Given the description of an element on the screen output the (x, y) to click on. 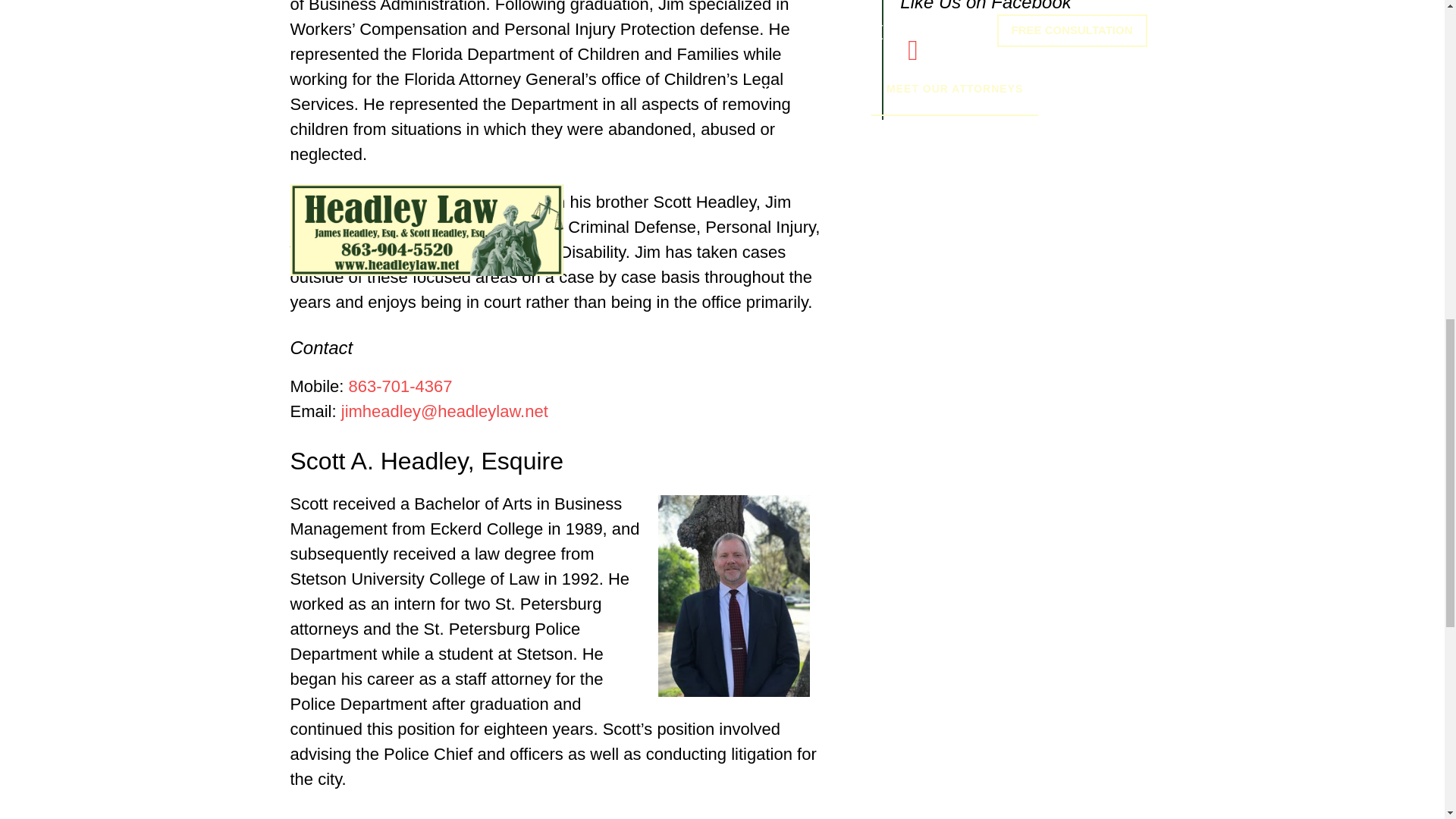
863-701-4367 (400, 385)
